Given the description of an element on the screen output the (x, y) to click on. 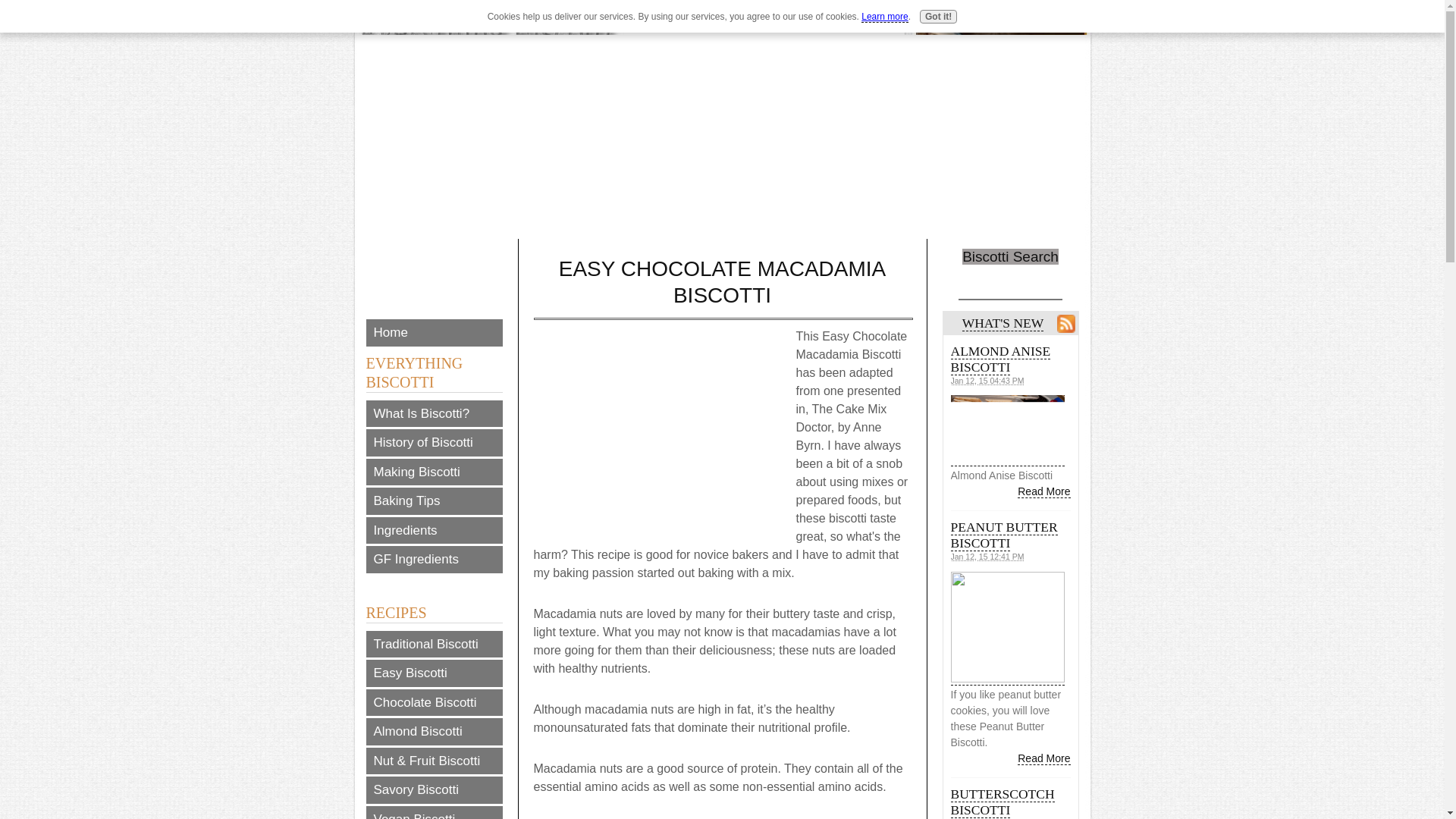
Ingredients (433, 530)
GF Ingredients (433, 559)
Home (433, 332)
2015-01-12T16:43:31-0500 (987, 379)
History of Biscotti (433, 442)
Making Biscotti (433, 471)
Baking Tips (433, 501)
Chocolate Biscotti (433, 701)
Almond Biscotti (433, 731)
Vegan Biscotti (433, 812)
Traditional Biscotti (433, 644)
What Is Biscotti? (433, 413)
Easy Biscotti (433, 673)
Savory Biscotti (433, 789)
2015-01-12T12:41:17-0500 (987, 556)
